Given the description of an element on the screen output the (x, y) to click on. 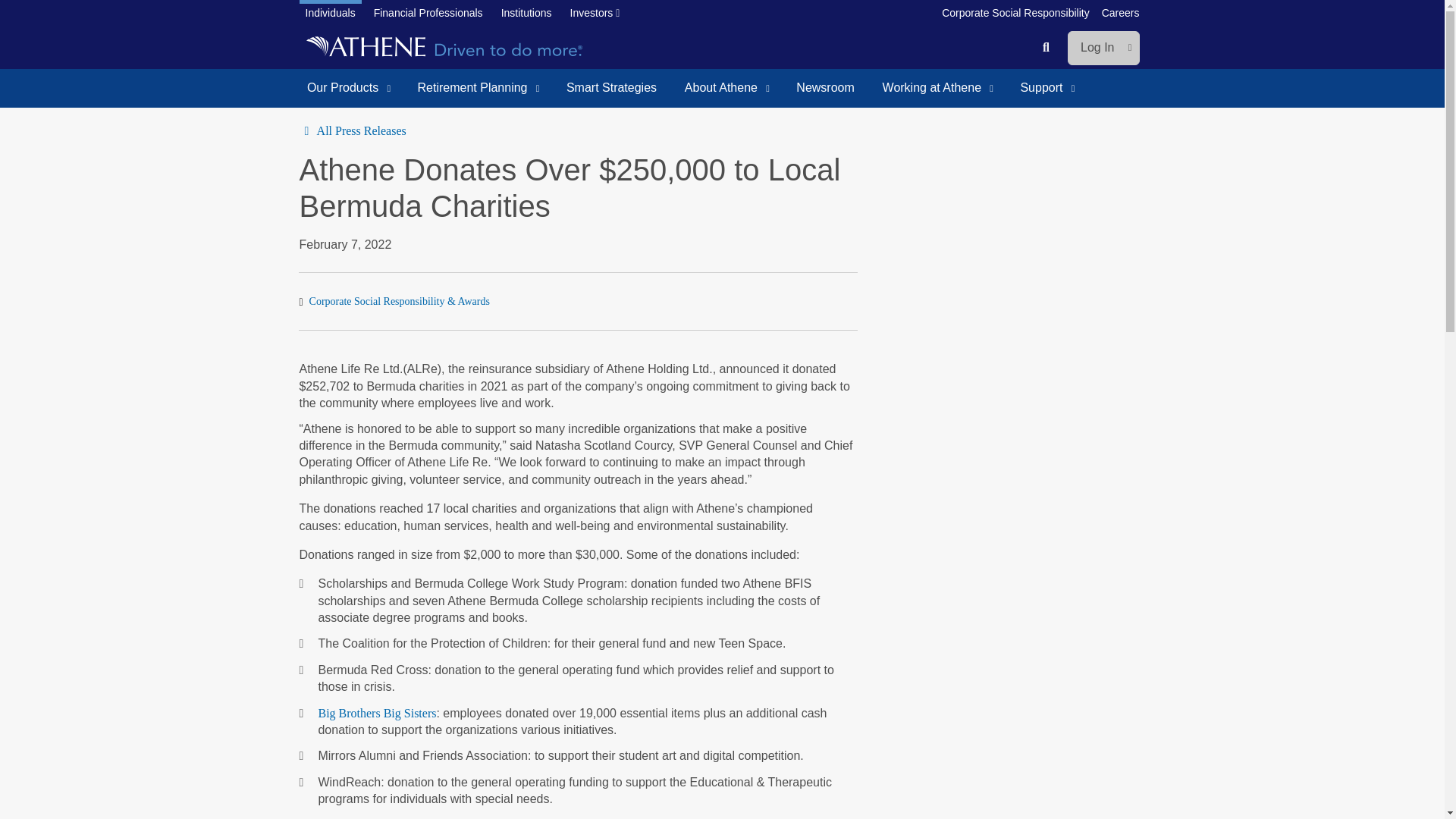
Investors (595, 13)
About Athene (726, 87)
Institutions (526, 13)
Working at Athene (937, 87)
Retirement Planning (477, 87)
Our Products (347, 87)
Smart Strategies (612, 87)
Log In (1102, 47)
Individuals (329, 13)
Financial Professionals (428, 13)
Newsroom (825, 87)
Corporate Social Responsibility (1016, 13)
Careers (1120, 13)
